Given the description of an element on the screen output the (x, y) to click on. 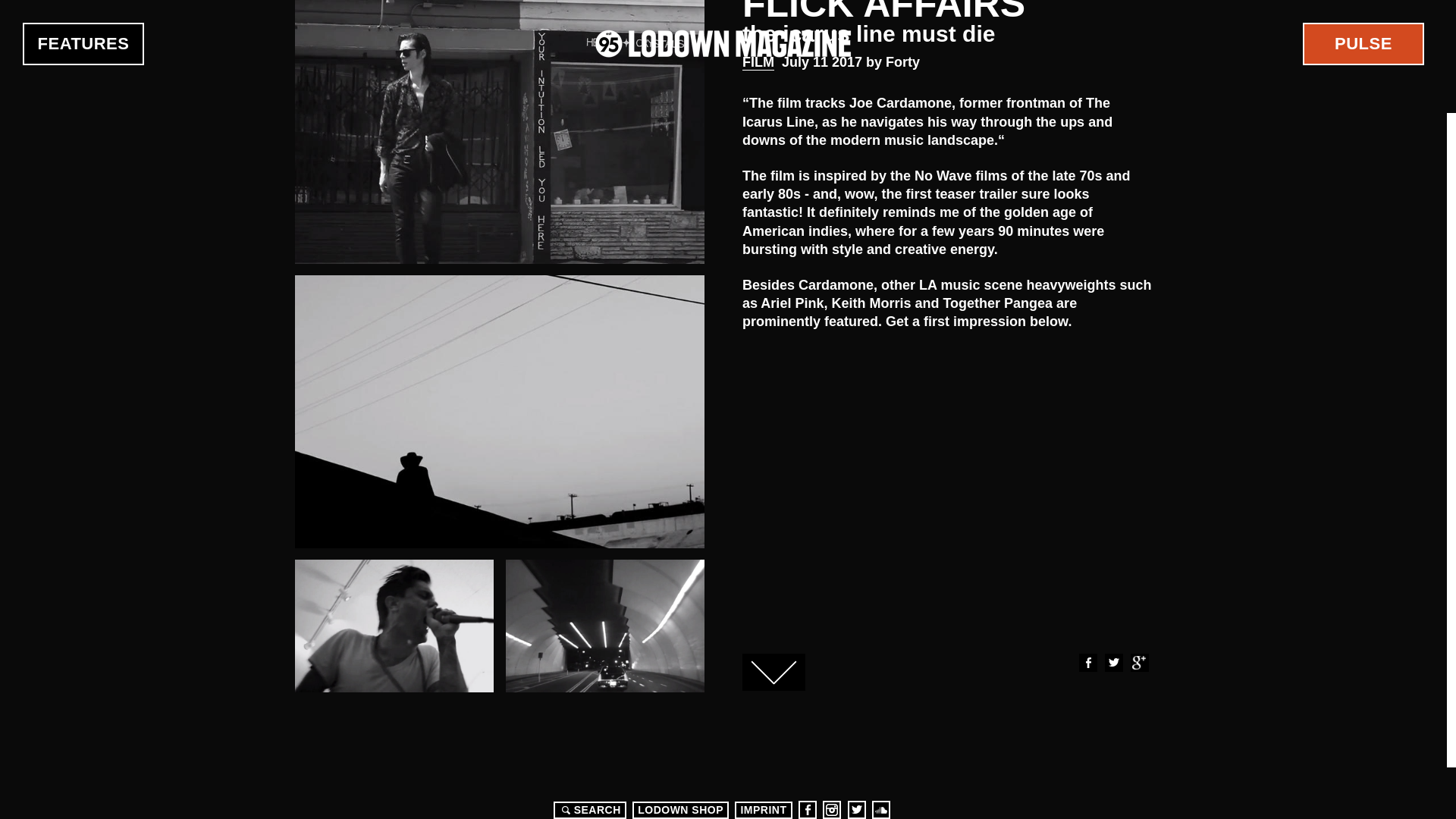
FACEBOOK (1087, 662)
FILM (758, 62)
TWITTER (1113, 662)
